Given the description of an element on the screen output the (x, y) to click on. 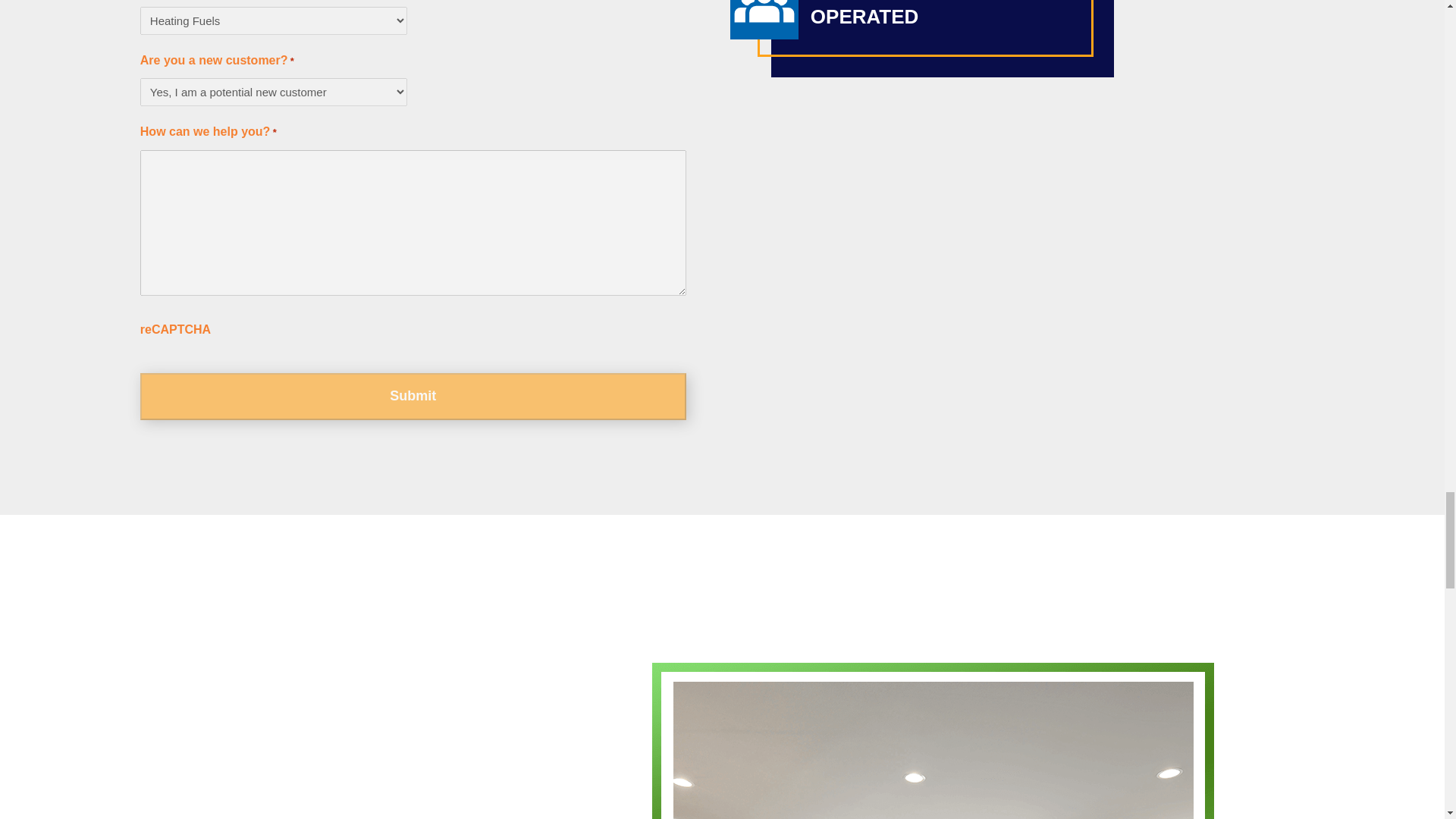
Submit (412, 396)
